Given the description of an element on the screen output the (x, y) to click on. 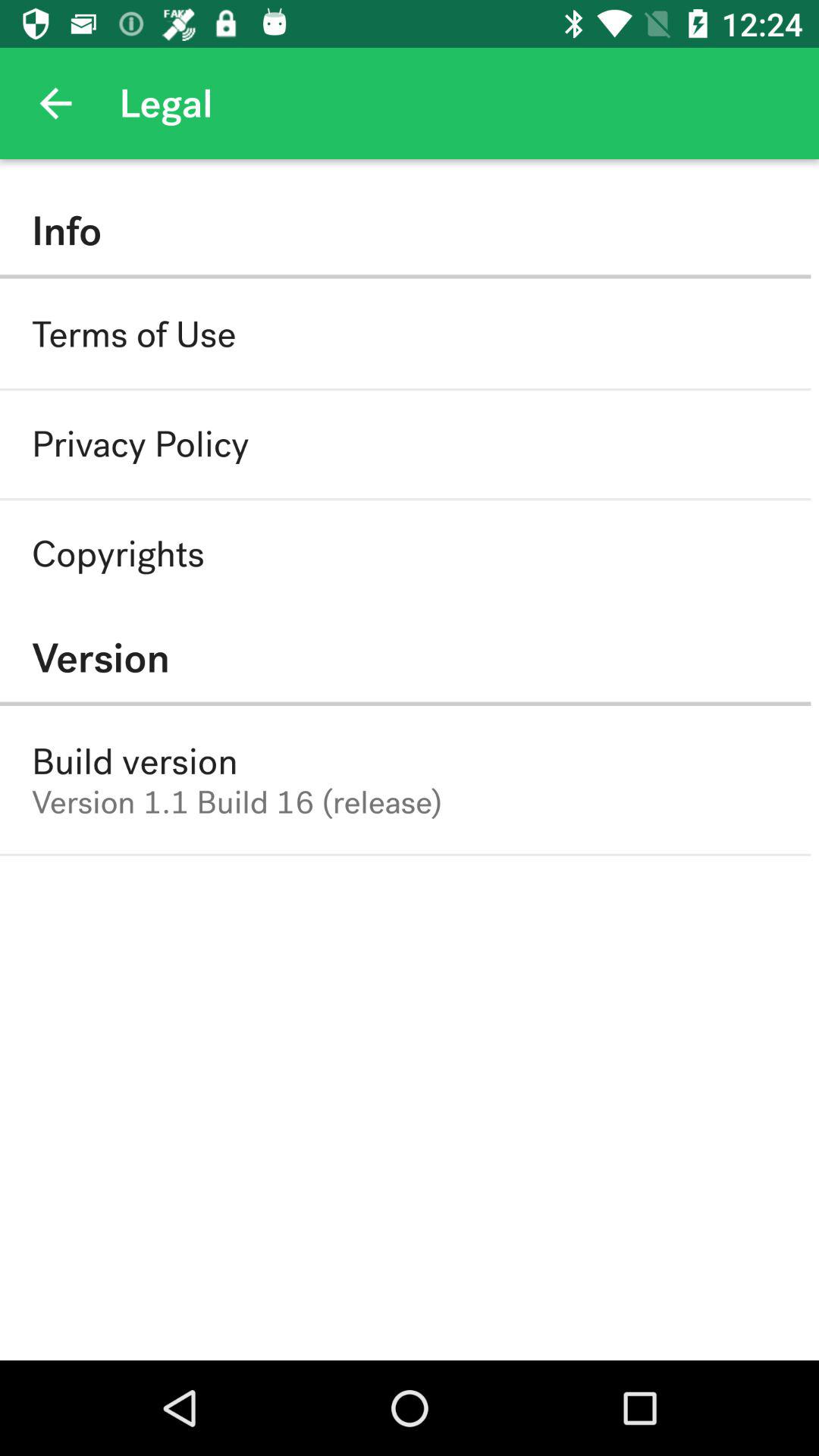
choose item above version (117, 554)
